Given the description of an element on the screen output the (x, y) to click on. 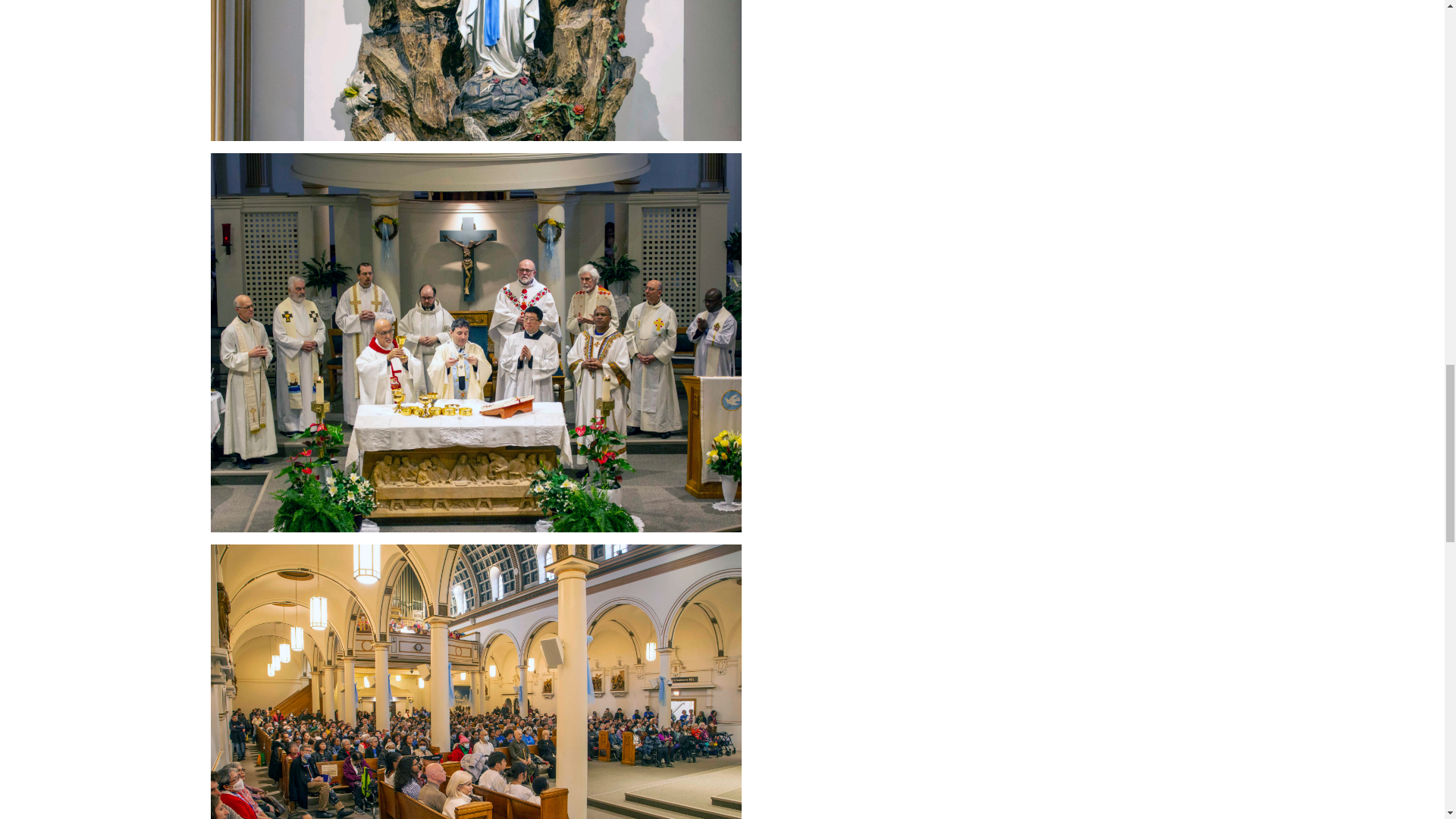
Archbishop Leo Visits Our Lady of Lourdes Parish (476, 70)
